Given the description of an element on the screen output the (x, y) to click on. 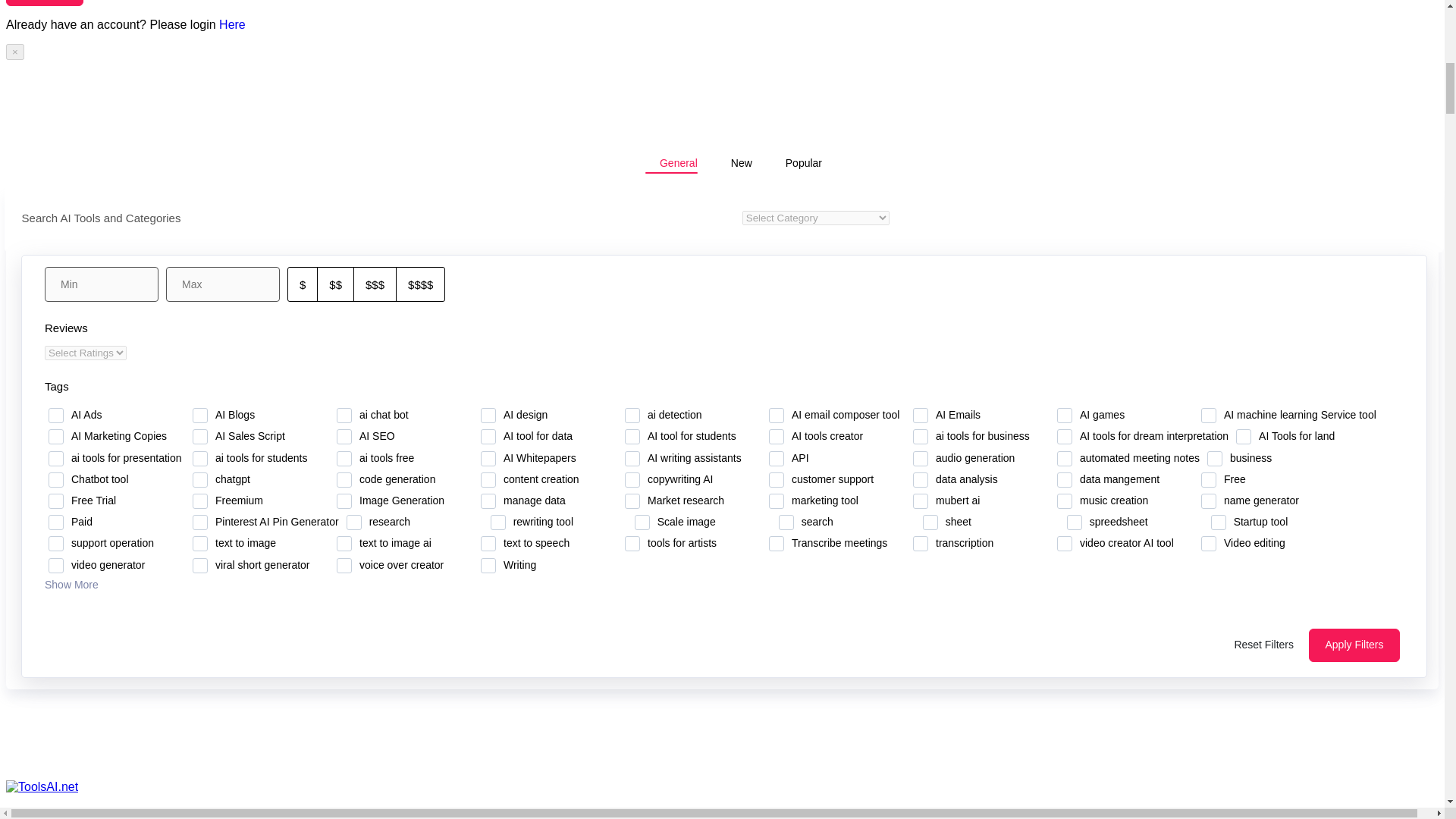
New (734, 162)
Reset Filters (1263, 644)
Here (232, 24)
General (671, 162)
Apply Filters (1353, 644)
Sign Up (43, 2)
Popular (796, 162)
Show More (78, 584)
